Given the description of an element on the screen output the (x, y) to click on. 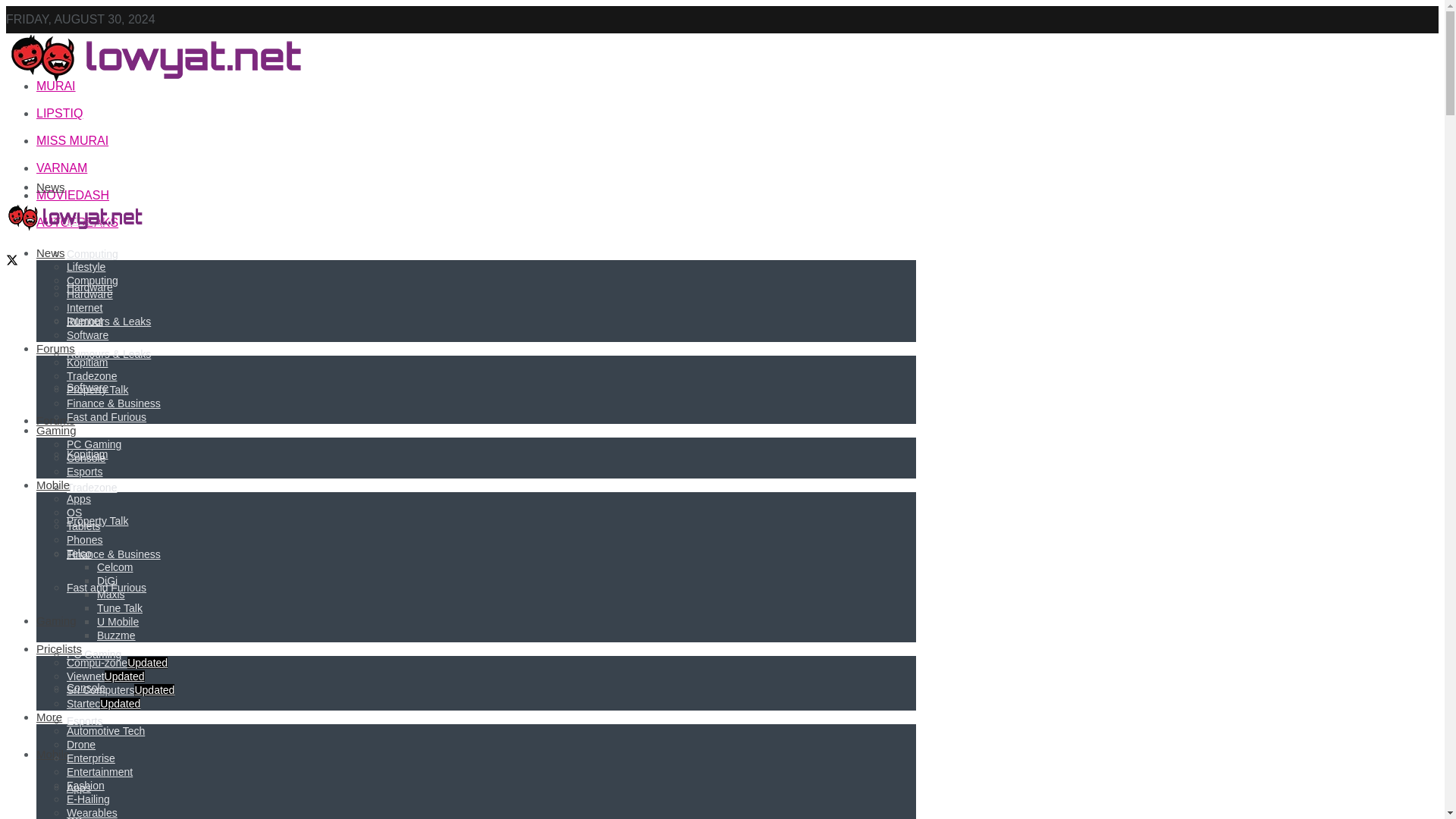
Lifestyle (85, 220)
MOVIEDASH (72, 195)
Apps (78, 787)
Tradezone (91, 487)
Fast and Furious (106, 587)
News (50, 186)
Software (86, 387)
Internet (83, 320)
OS (73, 816)
Hardware (89, 287)
